Given the description of an element on the screen output the (x, y) to click on. 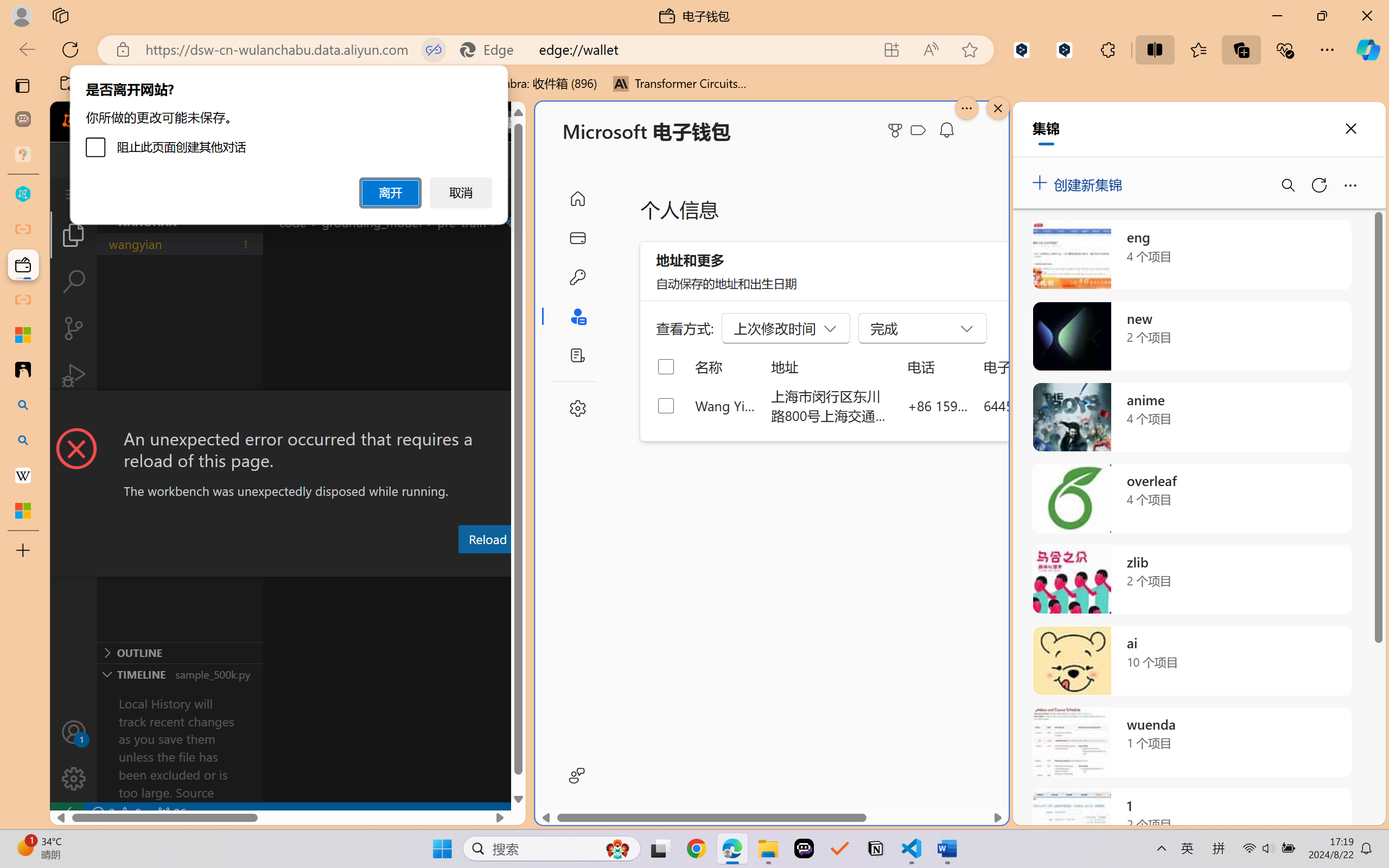
Run and Debug (Ctrl+Shift+D) (73, 375)
Manage (73, 755)
Terminal (Ctrl+`) (553, 565)
Output (Ctrl+Shift+U) (377, 565)
